Given the description of an element on the screen output the (x, y) to click on. 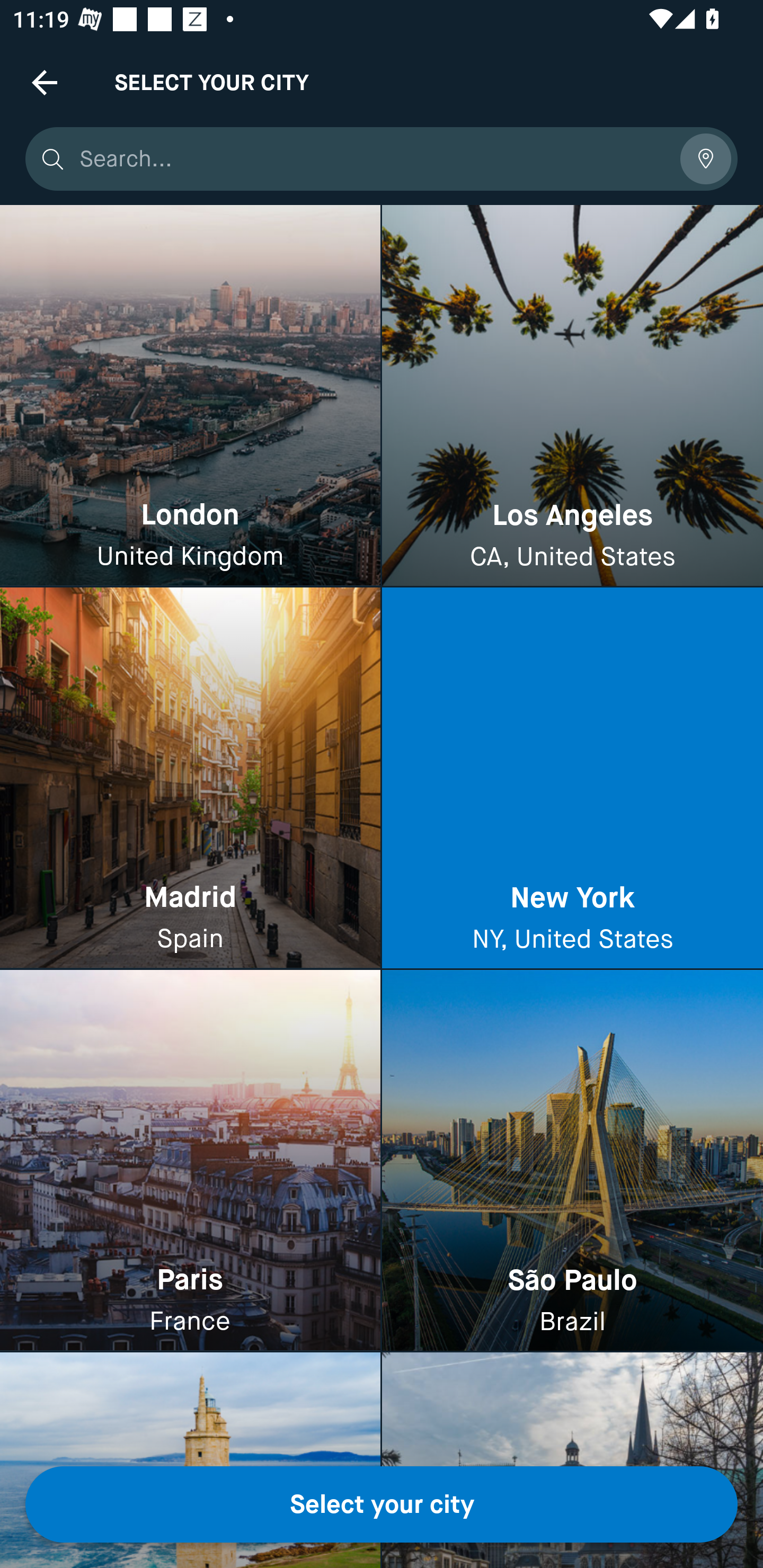
Navigate up (44, 82)
Search... (373, 159)
London United Kingdom (190, 395)
Los Angeles CA, United States (572, 395)
Madrid Spain (190, 778)
New York NY, United States (572, 778)
Paris France (190, 1160)
São Paulo Brazil (572, 1160)
Select your city (381, 1504)
